Given the description of an element on the screen output the (x, y) to click on. 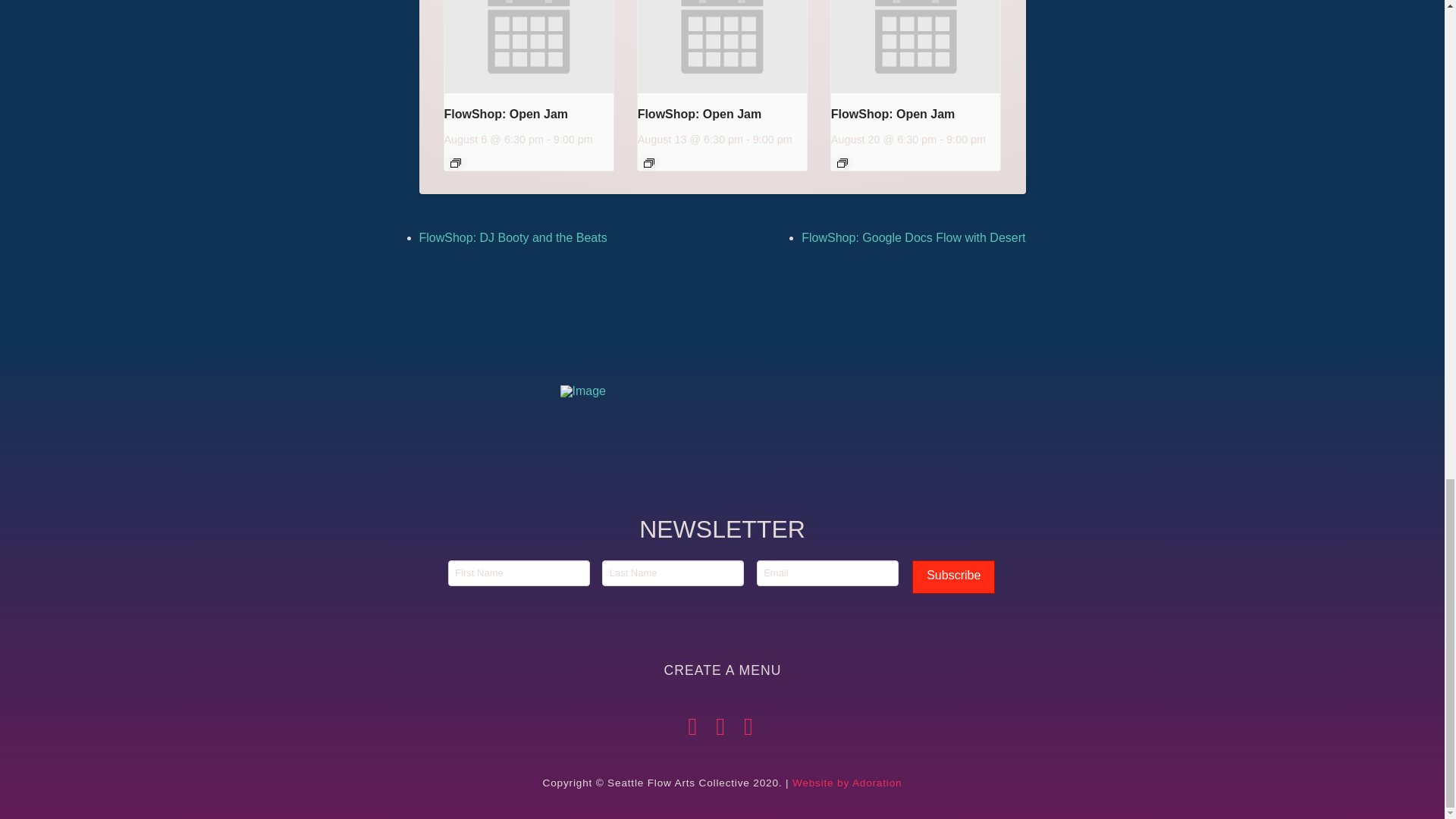
FlowShop: Open Jam (506, 113)
FlowShop: Open Jam (893, 113)
FlowShop: Open Jam (699, 113)
Subscribe (953, 577)
Event Series (842, 162)
Event Series (455, 162)
Event Series (648, 162)
